Given the description of an element on the screen output the (x, y) to click on. 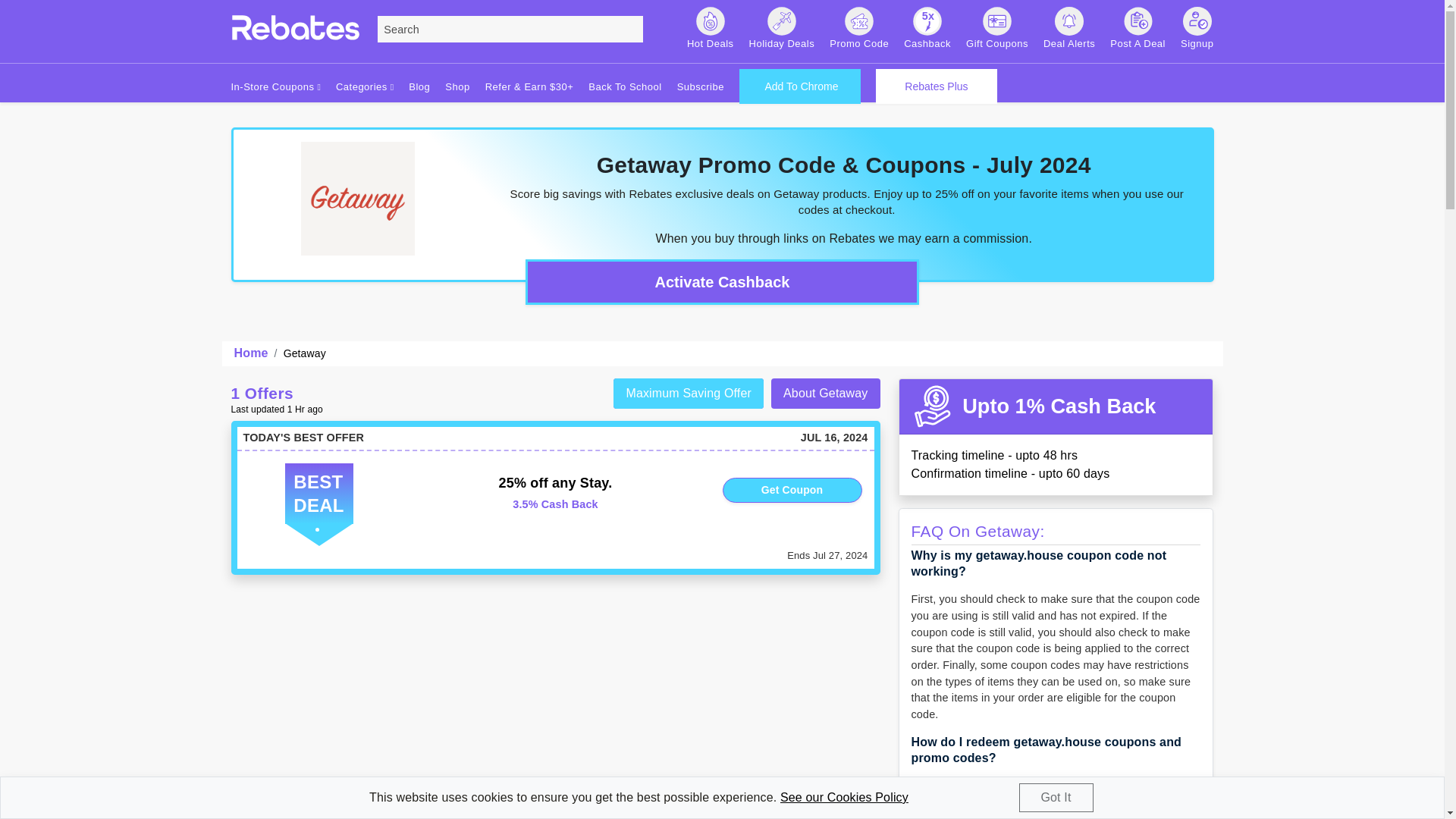
Hot Deals (710, 28)
Holiday Deals (782, 28)
Promo Code (858, 28)
